Given the description of an element on the screen output the (x, y) to click on. 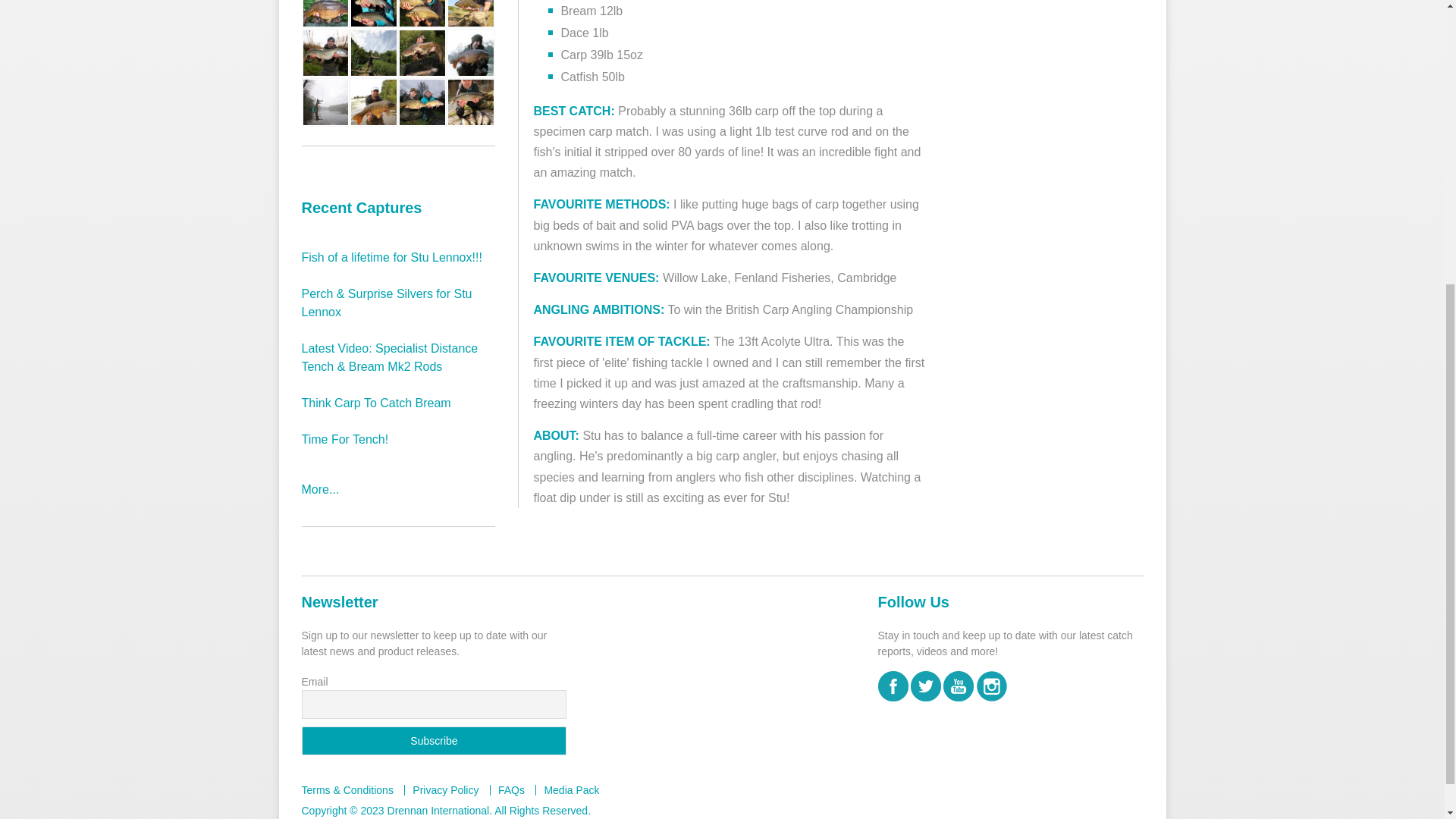
Stu Lennox (421, 101)
Stu Lennox (325, 51)
Stu Lennox (373, 101)
Stu Lennox (325, 4)
Stu Lennox (470, 51)
Stu Lennox (470, 101)
Stu Lennox (421, 4)
Stu Lennox (325, 101)
Subscribe (434, 740)
Stu Lennox (470, 4)
Stu Lennox (421, 51)
Stu Lennox (373, 4)
Stu Lennox (373, 51)
